Given the description of an element on the screen output the (x, y) to click on. 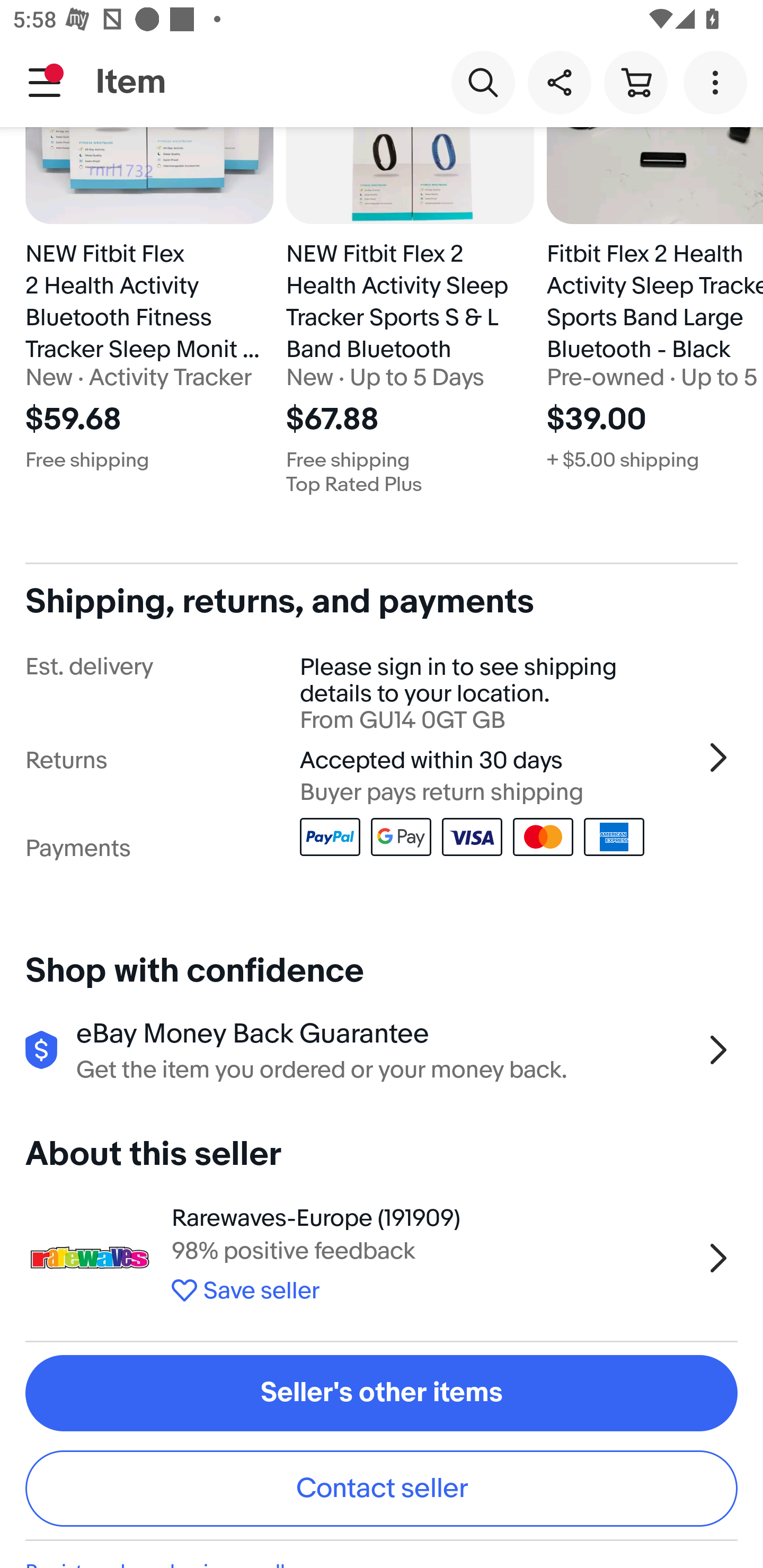
Main navigation, notification is pending, open (44, 82)
Search (482, 81)
Share this item (559, 81)
Cart button shopping cart (635, 81)
More options (718, 81)
Save seller (431, 1286)
Seller's other items (381, 1392)
Contact seller (381, 1488)
